Given the description of an element on the screen output the (x, y) to click on. 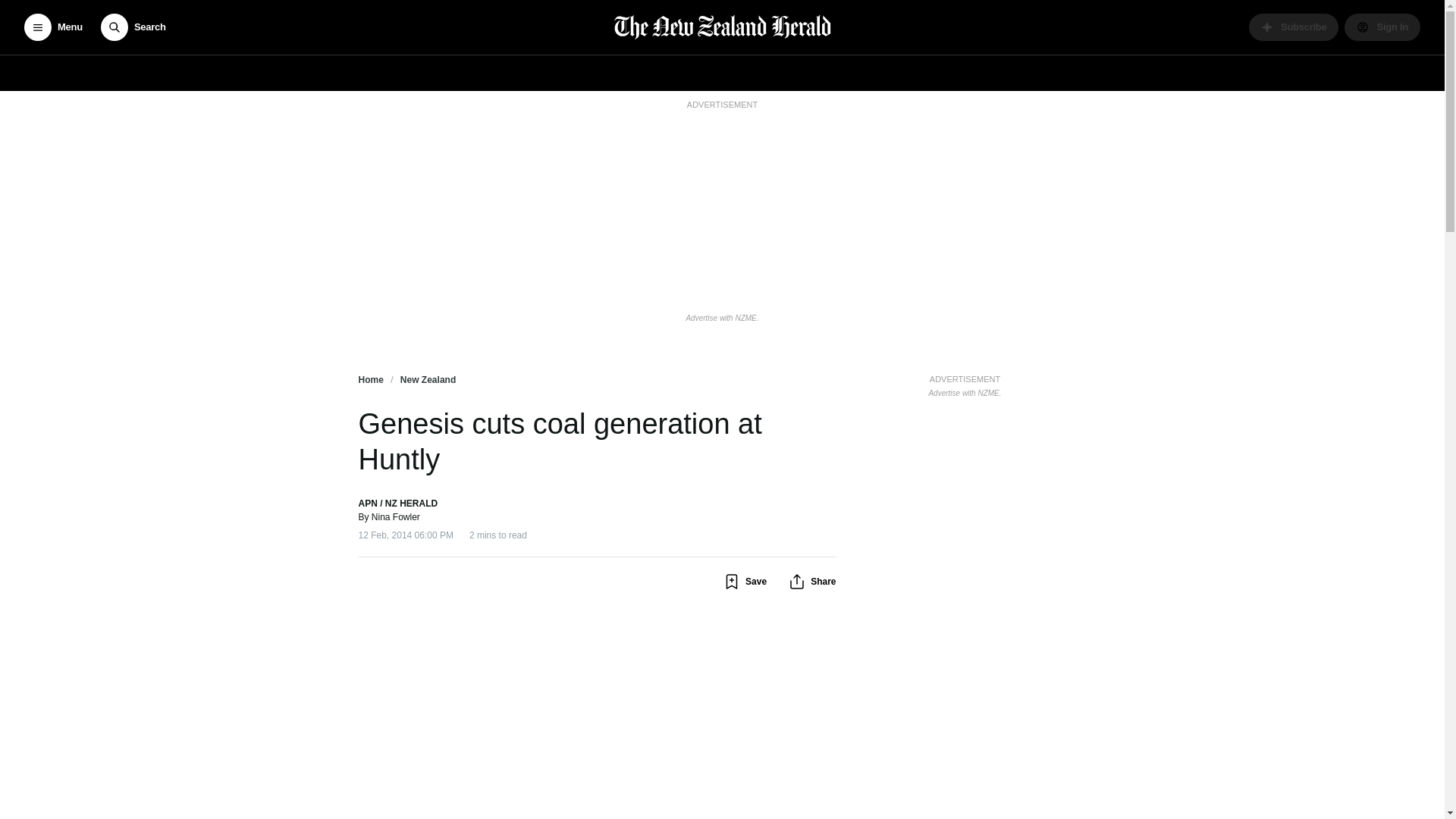
Subscribe (1294, 26)
Search (132, 26)
Menu (53, 26)
Sign In (1382, 26)
Manage your account (1382, 26)
